Given the description of an element on the screen output the (x, y) to click on. 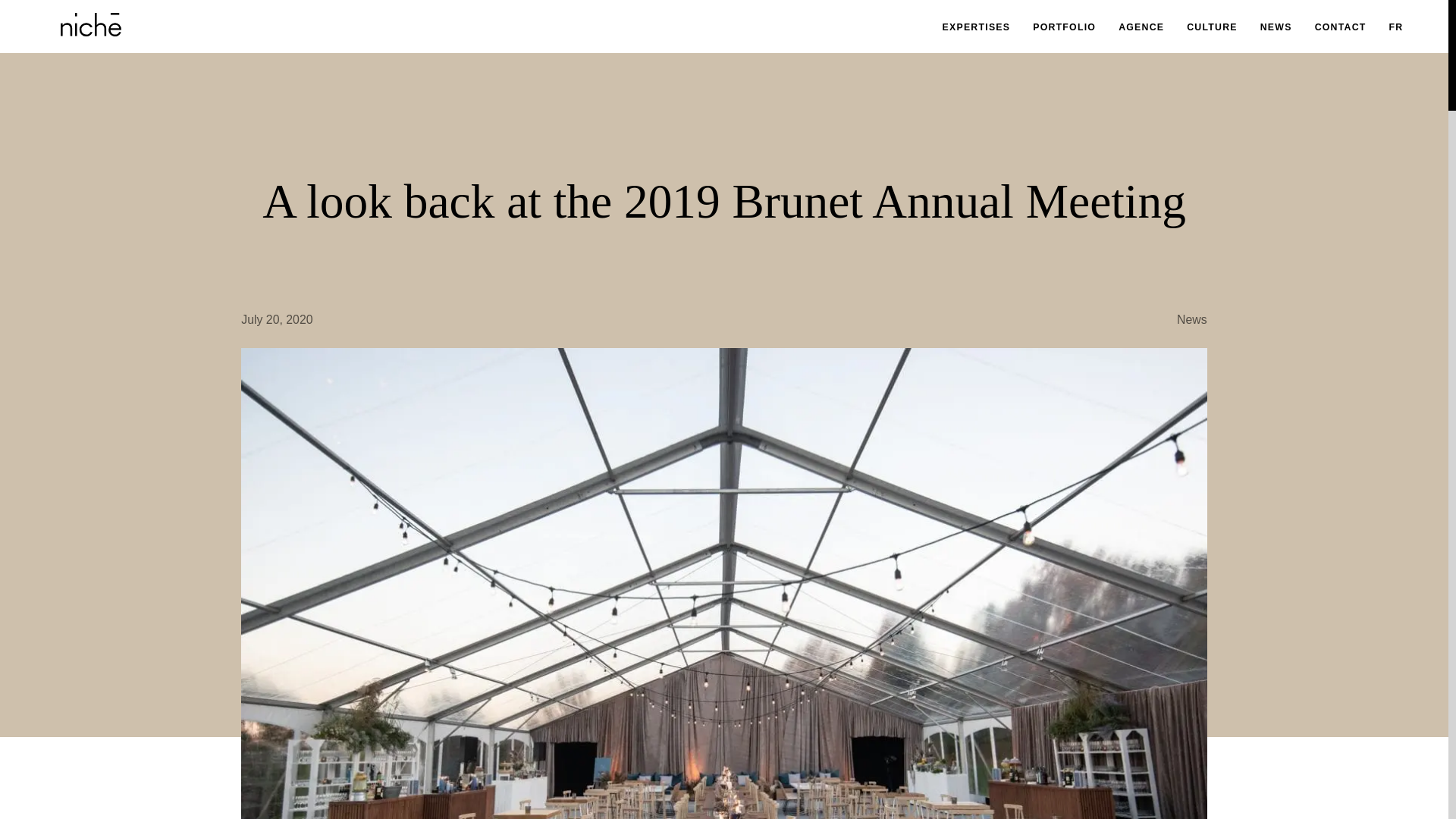
NEWS (1276, 26)
CONTACT (1340, 26)
FR (1396, 28)
FR (1396, 28)
CULTURE (1211, 26)
EXPERTISES (976, 26)
PORTFOLIO (1064, 26)
AGENCE (1140, 26)
